Given the description of an element on the screen output the (x, y) to click on. 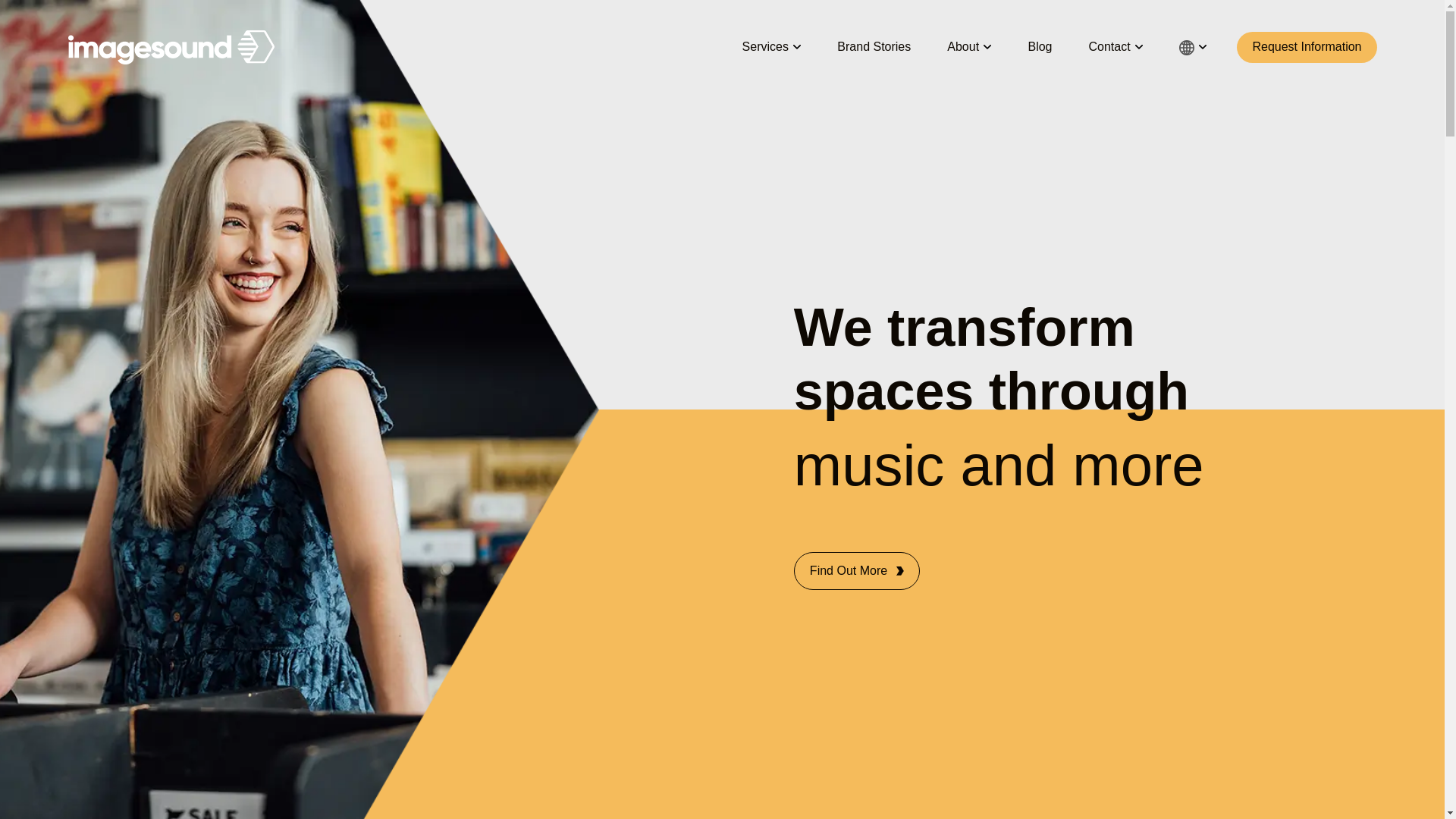
Services (772, 47)
About (968, 47)
Blog (1040, 46)
Brand Stories (874, 46)
